Given the description of an element on the screen output the (x, y) to click on. 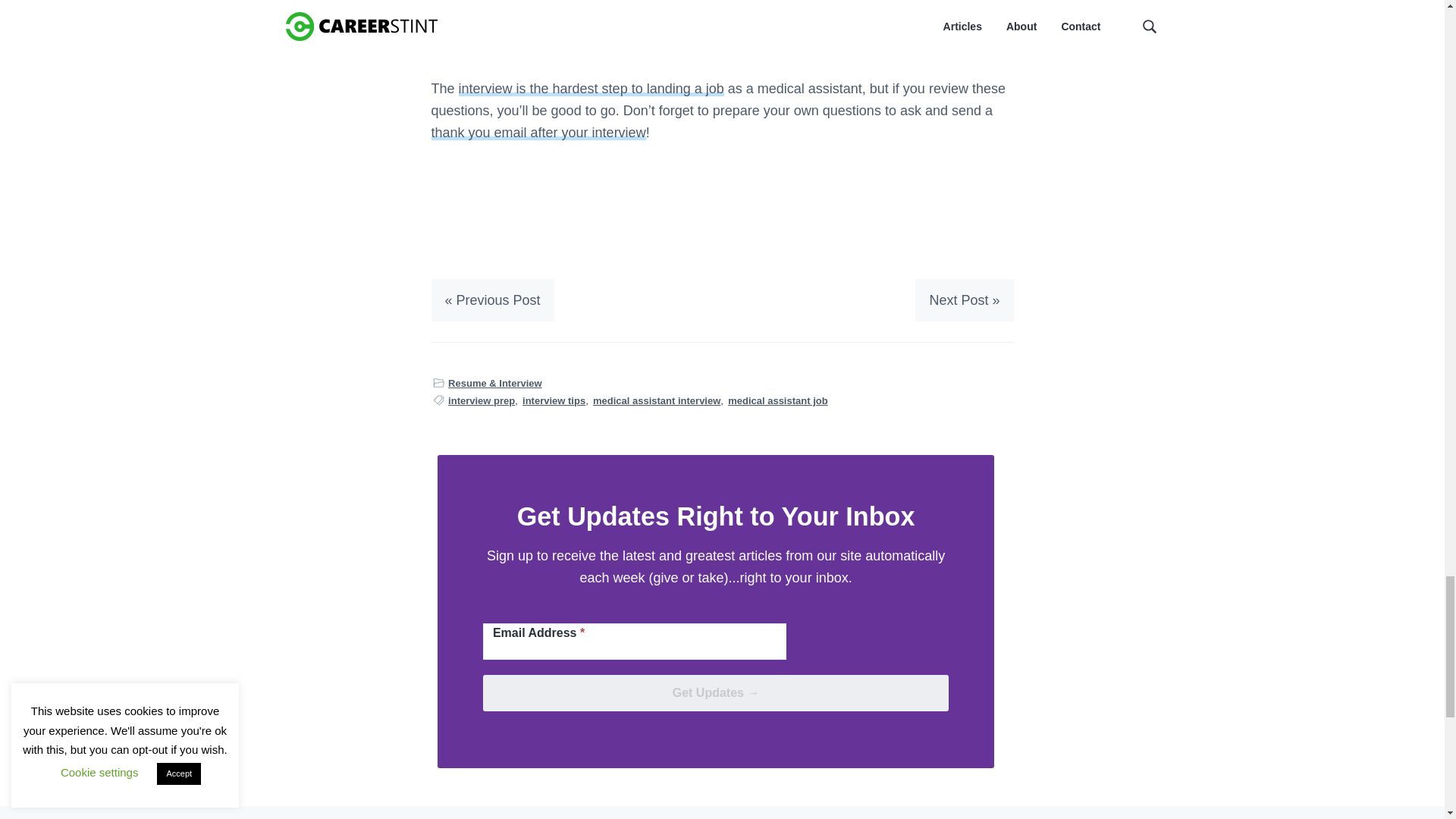
medical assistant interview (656, 400)
interview prep (481, 400)
interview tips (553, 400)
interview is the hardest step to landing a job (590, 88)
medical assistant job (778, 400)
thank you email after your interview (537, 132)
